Given the description of an element on the screen output the (x, y) to click on. 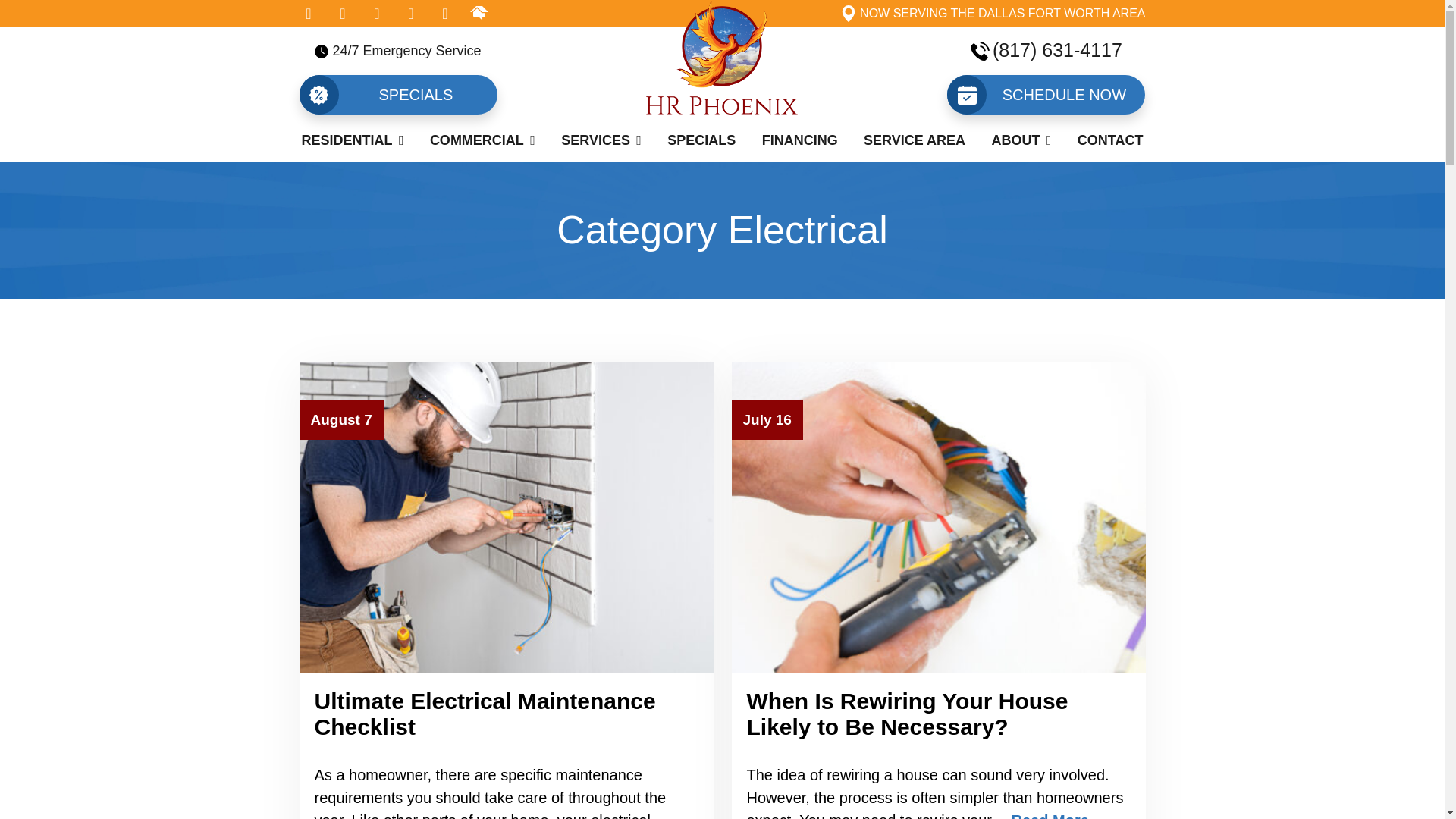
When Is Rewiring Your House Likely to Be Necessary? (906, 714)
SPECIALS (397, 94)
Ultimate Electrical Maintenance Checklist (484, 714)
HR Phoenix (722, 70)
